Given the description of an element on the screen output the (x, y) to click on. 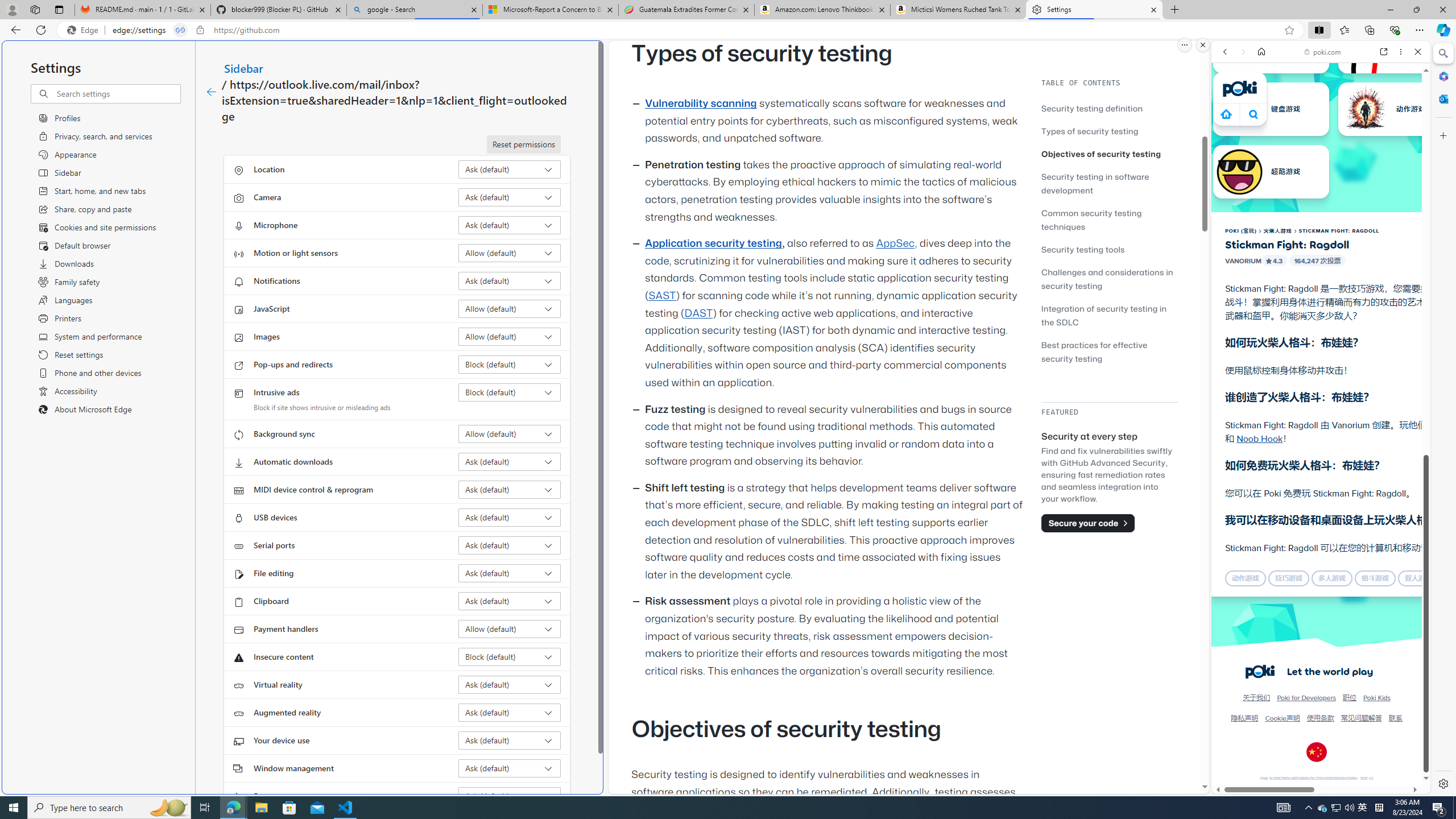
Poki (1315, 754)
Car Games (1320, 267)
Class: fcfViJboVjIxhb1F278U (1268, 260)
Search Filter, VIDEOS (1300, 129)
USB devices Ask (default) (509, 517)
Search Filter, WEB (1230, 129)
Fonts Ask (default) (509, 796)
Motion or light sensors Allow (default) (509, 253)
Common security testing techniques (1091, 219)
Application security testing (713, 243)
Tabs in split screen (180, 29)
